Given the description of an element on the screen output the (x, y) to click on. 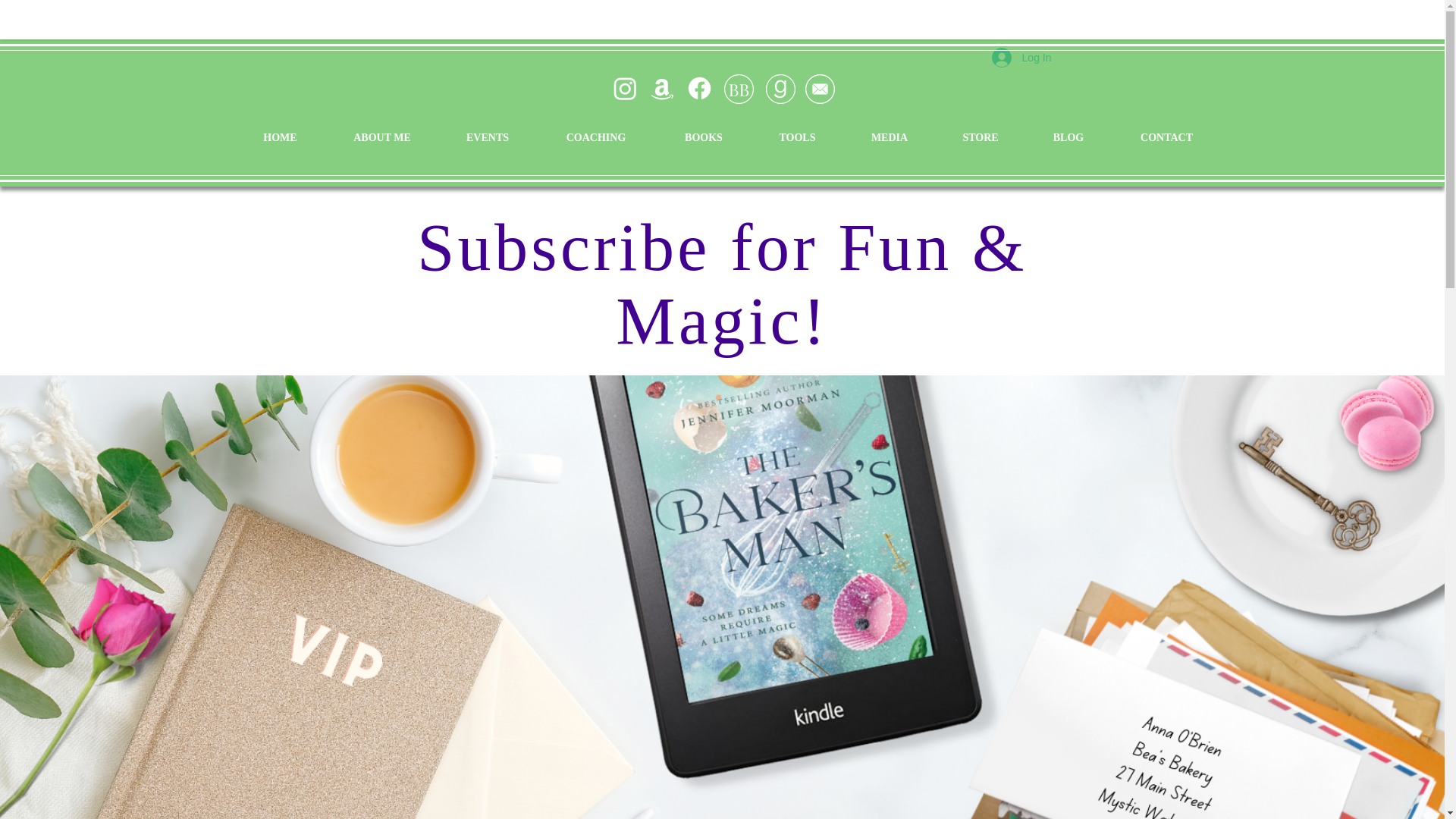
TOOLS (797, 137)
HOME (279, 137)
EVENTS (487, 137)
Log In (1021, 57)
BLOG (1067, 137)
ABOUT ME (381, 137)
BOOKS (703, 137)
COACHING (595, 137)
MEDIA (888, 137)
CONTACT (1167, 137)
STORE (981, 137)
